Given the description of an element on the screen output the (x, y) to click on. 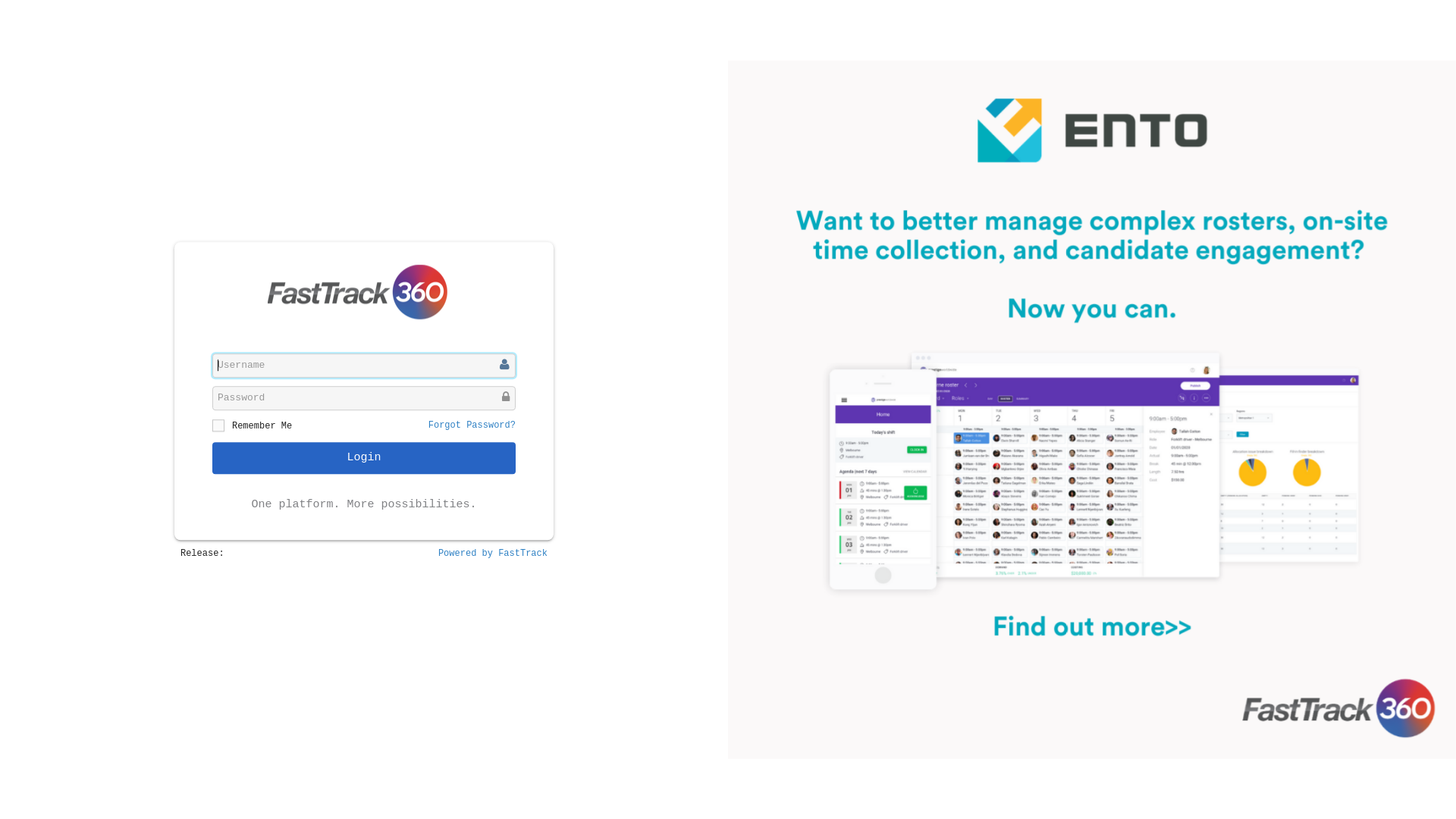
Forgot Password? Element type: text (471, 425)
Login Element type: text (363, 457)
Powered by FastTrack Element type: text (492, 553)
